Given the description of an element on the screen output the (x, y) to click on. 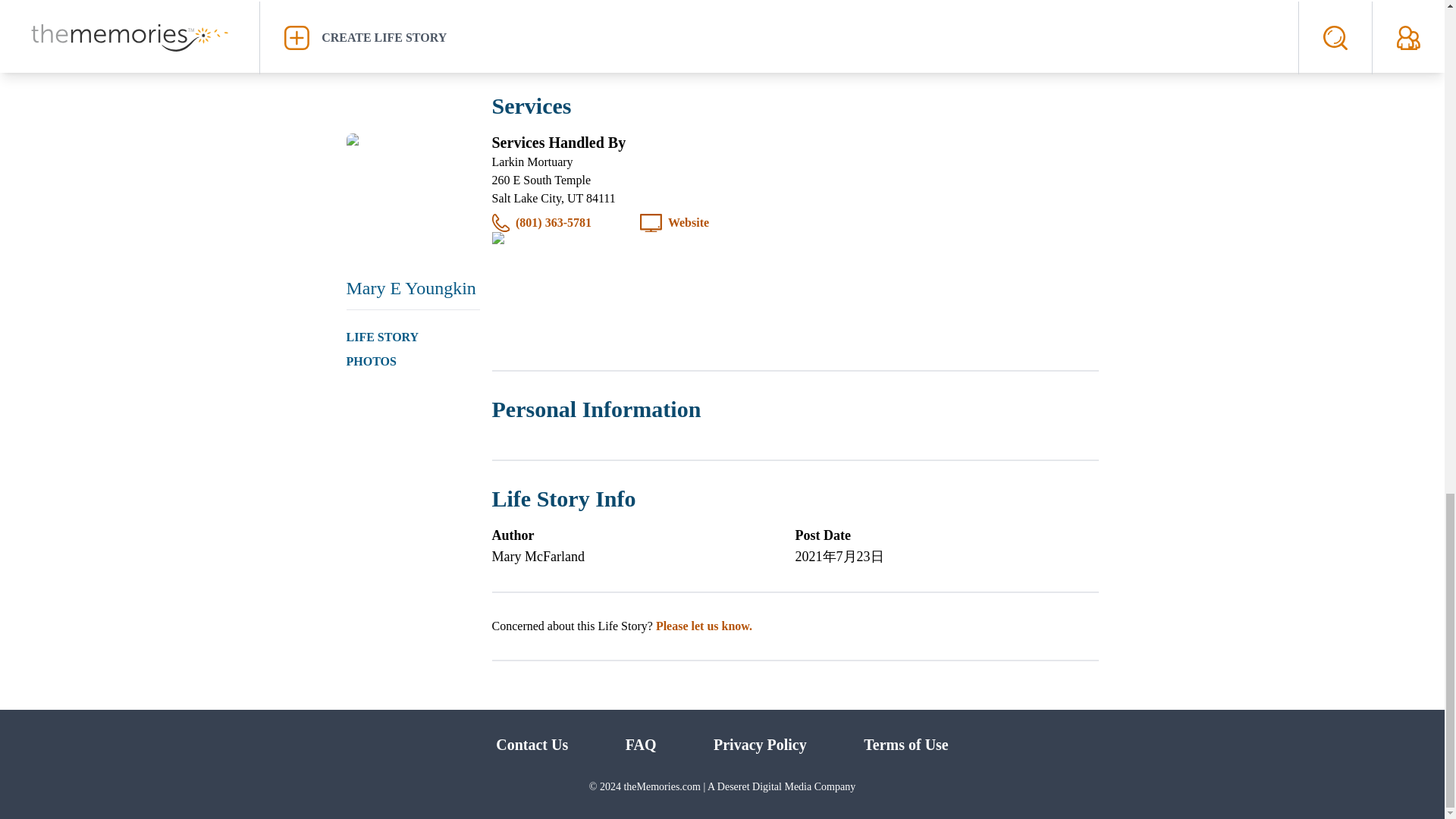
Terms of Use (905, 744)
Please let us know. (704, 625)
Privacy Policy (759, 744)
Website (688, 222)
FAQ (641, 744)
Contact Us (531, 744)
